Given the description of an element on the screen output the (x, y) to click on. 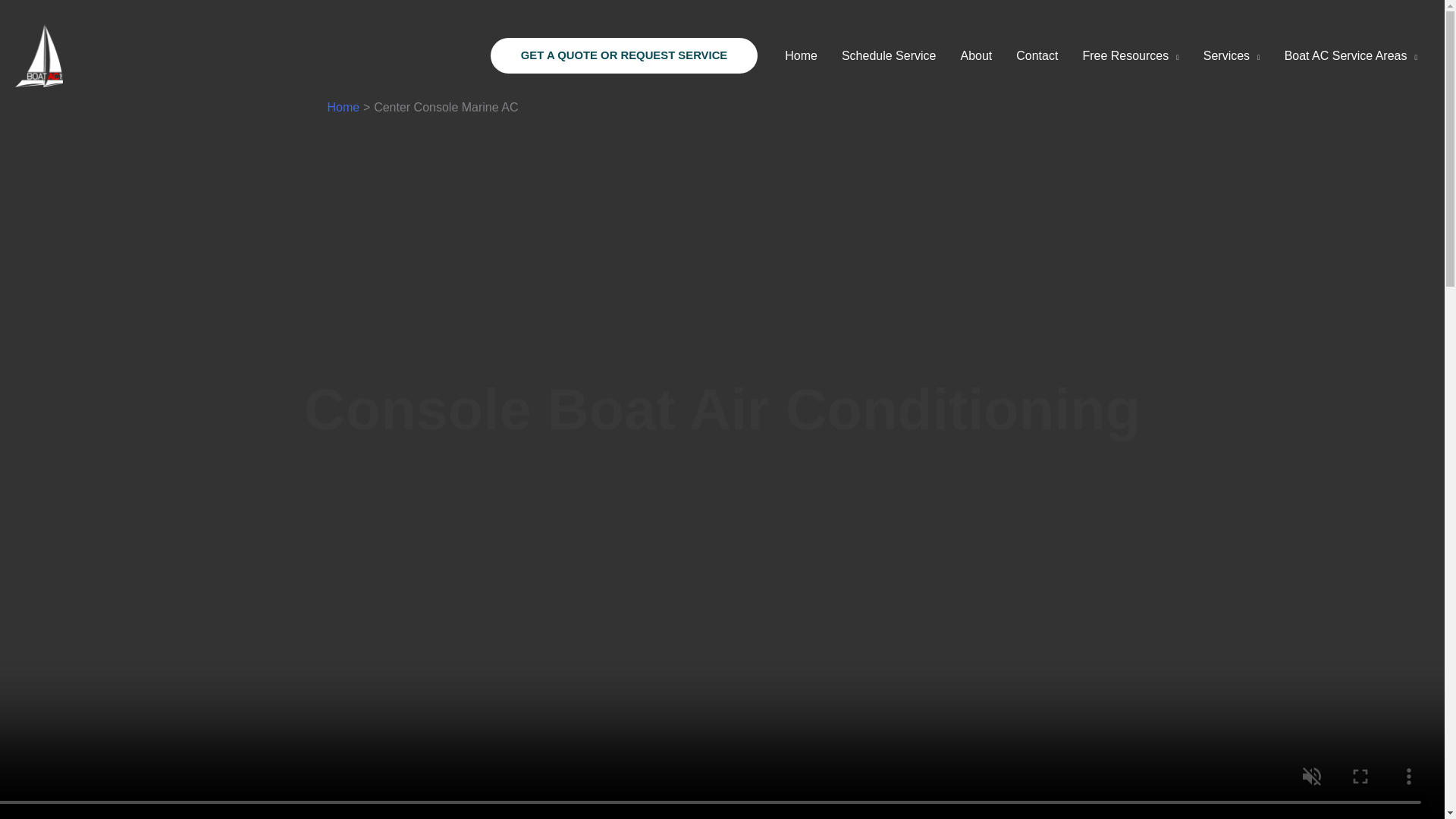
GET A QUOTE OR REQUEST SERVICE (623, 55)
Services (1231, 55)
Contact (1037, 55)
Schedule Service (889, 55)
About (975, 55)
Home (343, 106)
Home (801, 55)
Free Resources (1130, 55)
Boat AC Service Areas (1350, 55)
